Given the description of an element on the screen output the (x, y) to click on. 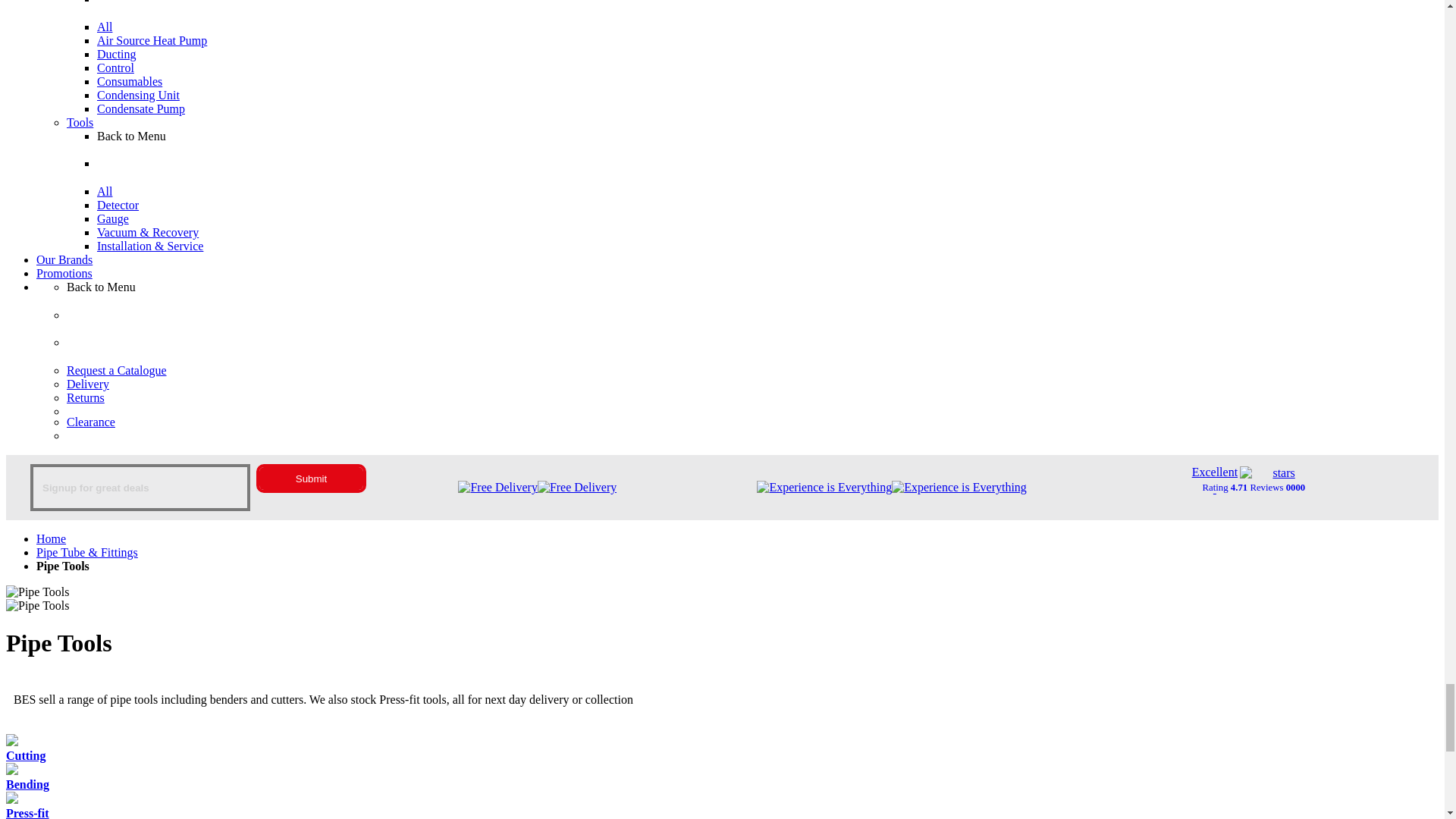
Pipe Tools (36, 591)
Submit (310, 477)
Go to Home Page (50, 538)
